Given the description of an element on the screen output the (x, y) to click on. 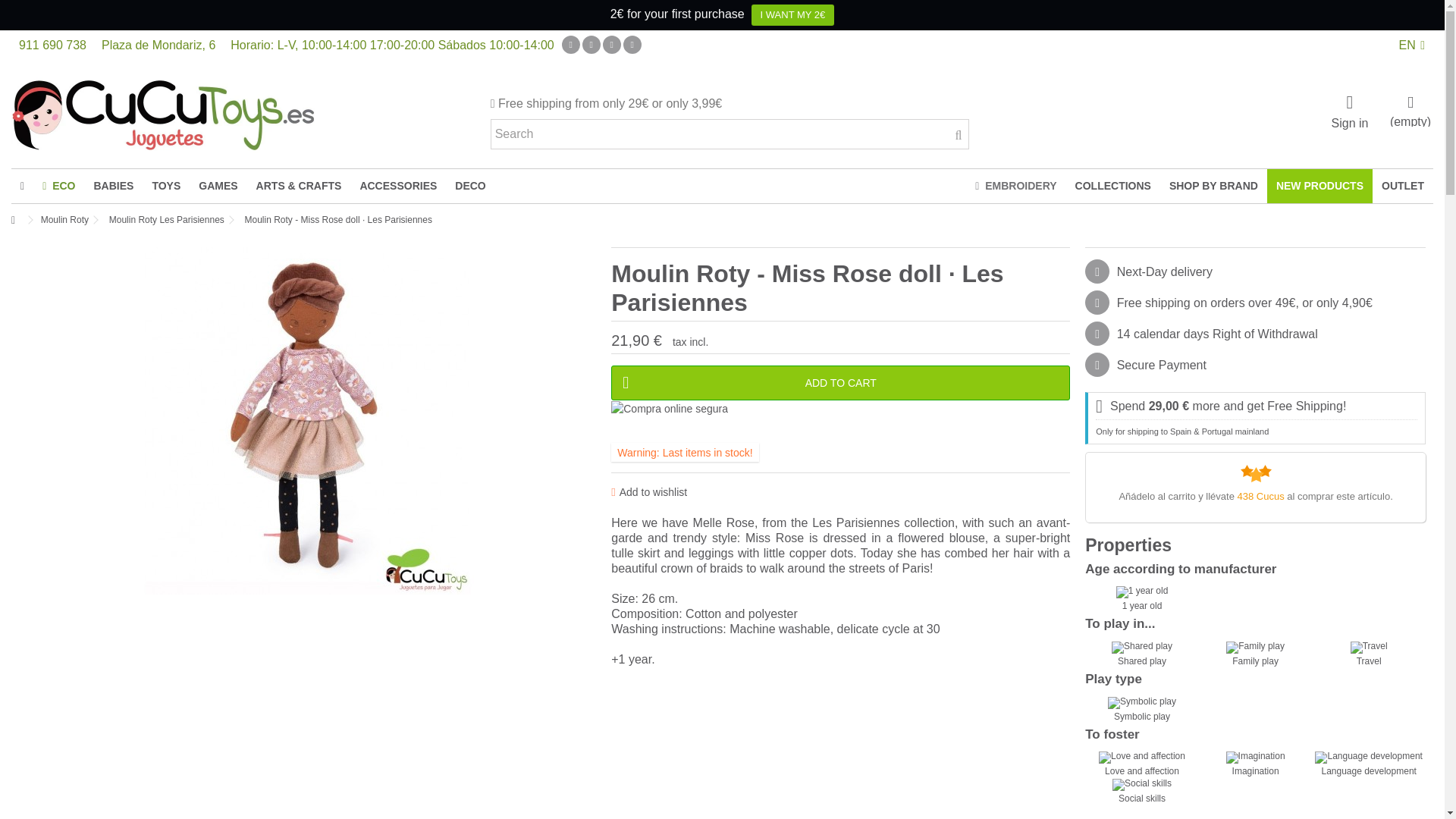
View my shopping cart (1410, 109)
BABIES (113, 185)
Pinterest (611, 45)
Plaza de Mondariz, 6 (158, 44)
Instagram (632, 45)
Youtube (590, 45)
Login to your customer account (1350, 109)
ECO (58, 185)
Sign in (1350, 109)
911 690 738 (51, 44)
